Given the description of an element on the screen output the (x, y) to click on. 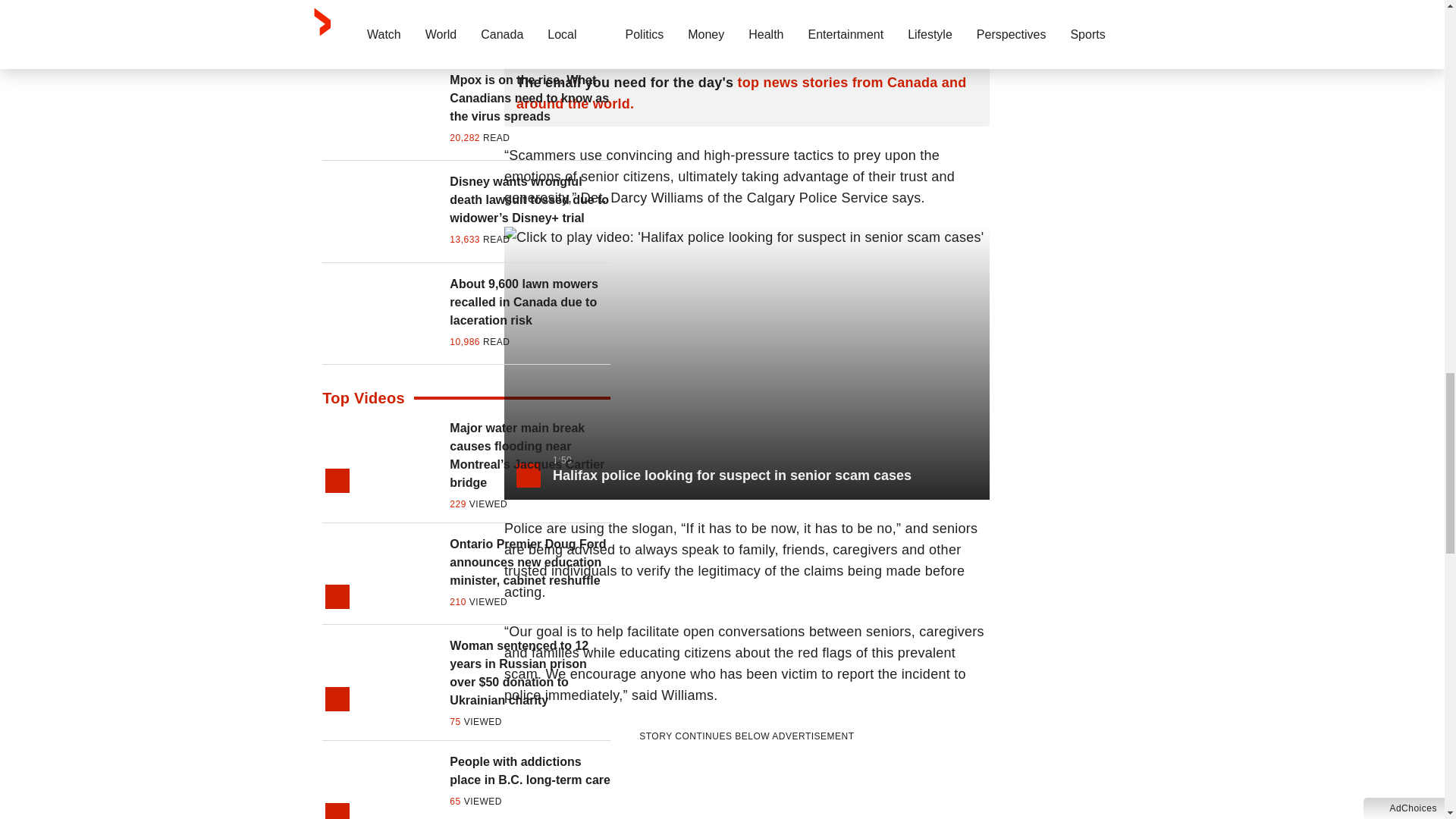
People with addictions place in B.C. long-term care (529, 770)
